Given the description of an element on the screen output the (x, y) to click on. 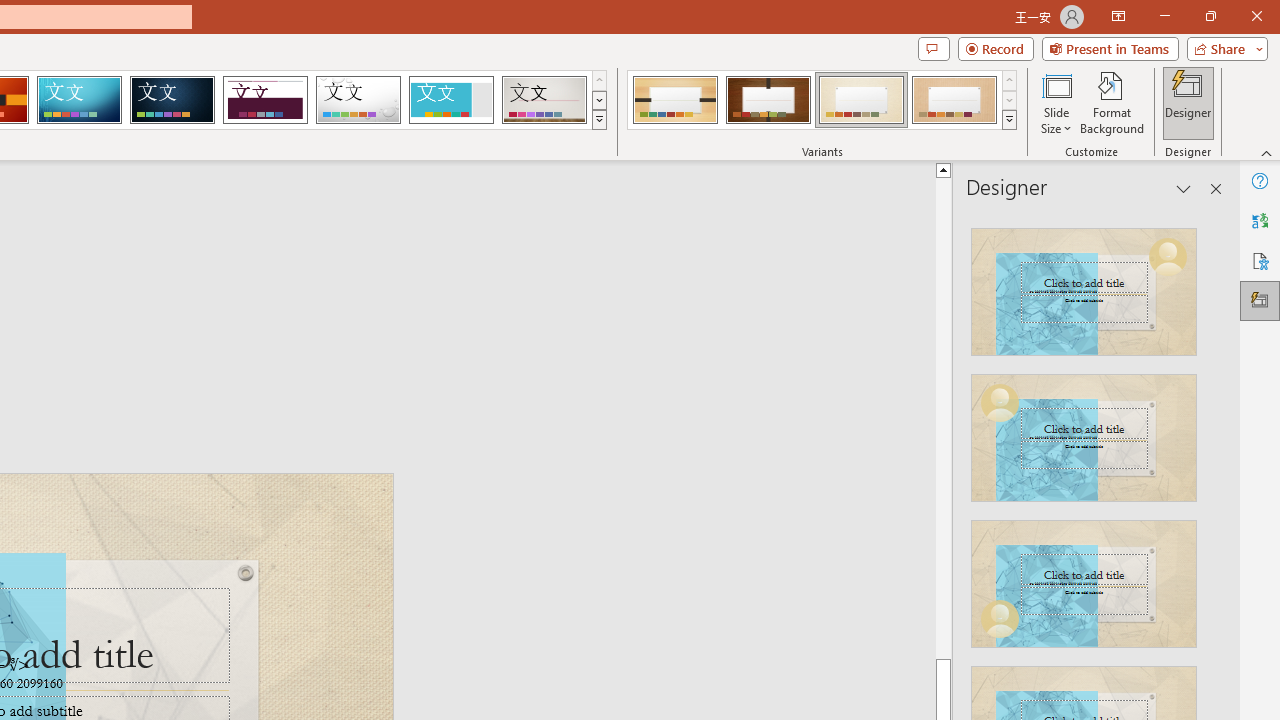
Circuit (79, 100)
Format Background (1111, 102)
AutomationID: ThemeVariantsGallery (822, 99)
Variants (1009, 120)
